Given the description of an element on the screen output the (x, y) to click on. 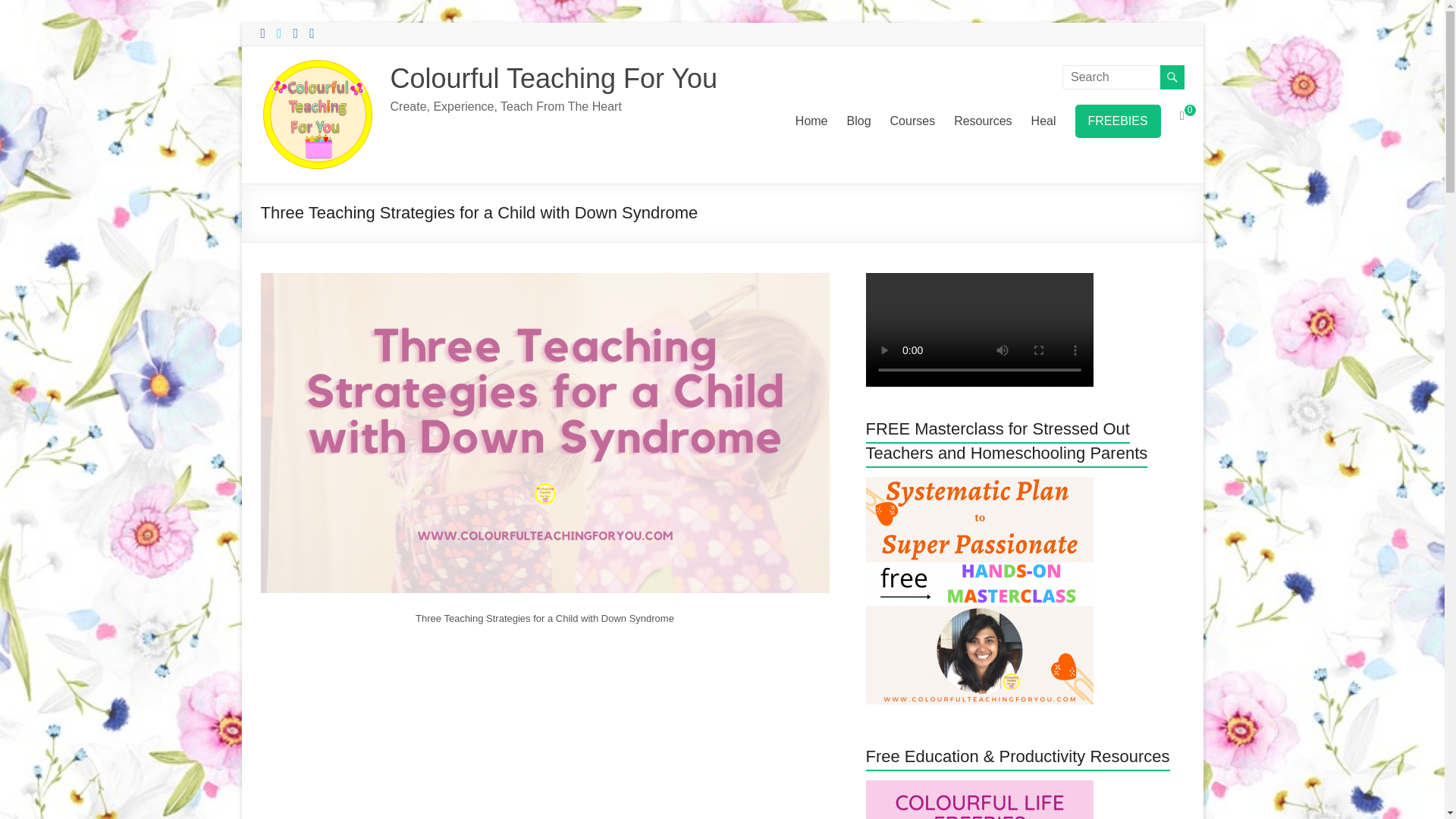
FREEBIES (1117, 121)
Resources (982, 120)
Heal (1043, 120)
Courses (912, 120)
Home (811, 120)
Blog (858, 120)
Colourful Teaching For You (553, 78)
Colourful Teaching For You (553, 78)
